Given the description of an element on the screen output the (x, y) to click on. 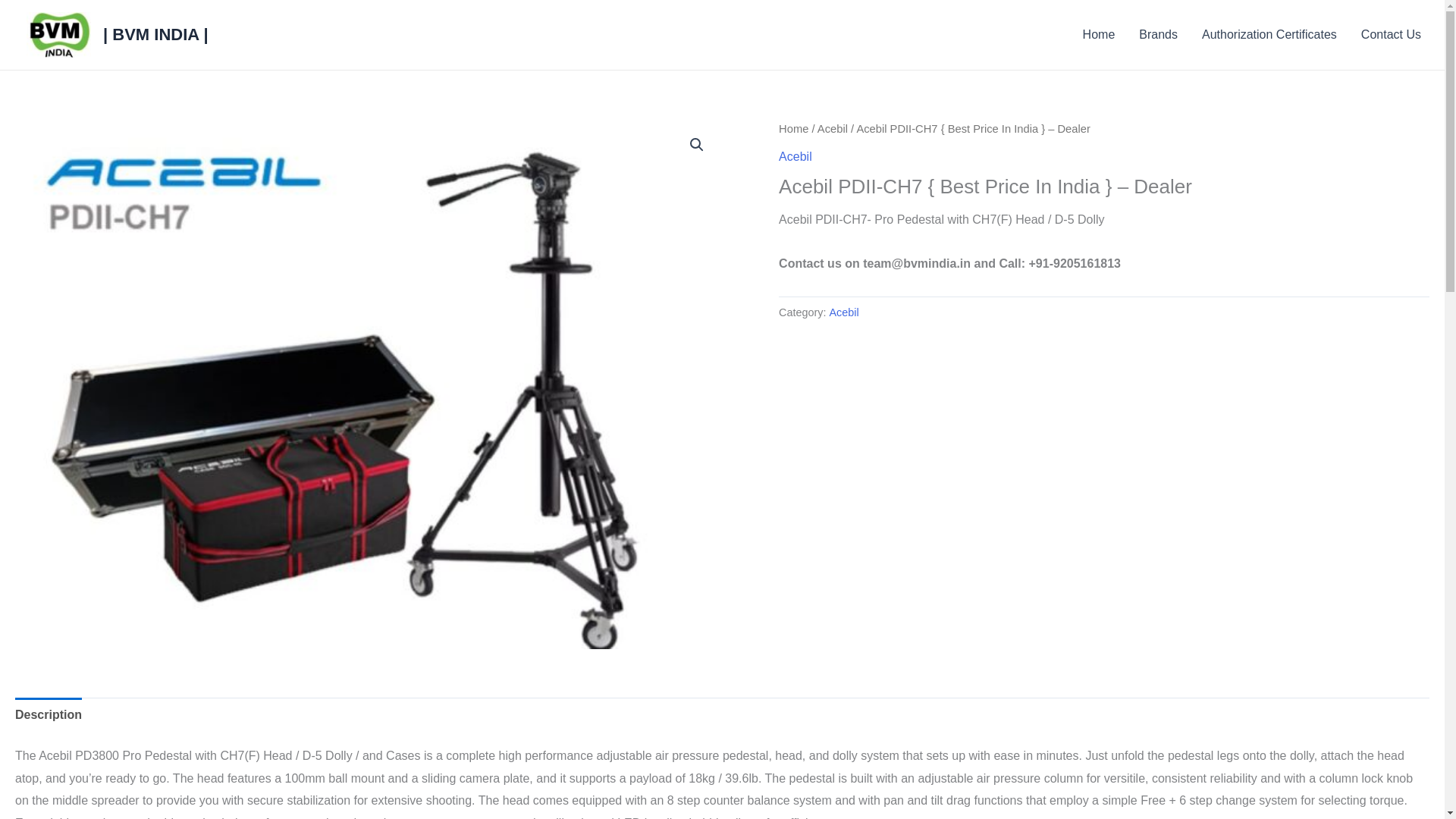
Authorization Certificates (1269, 34)
Acebil (831, 128)
Contact Us (1390, 34)
Acebil (795, 155)
Acebil (844, 312)
Description (47, 714)
Home (793, 128)
Home (1098, 34)
Brands (1157, 34)
